Given the description of an element on the screen output the (x, y) to click on. 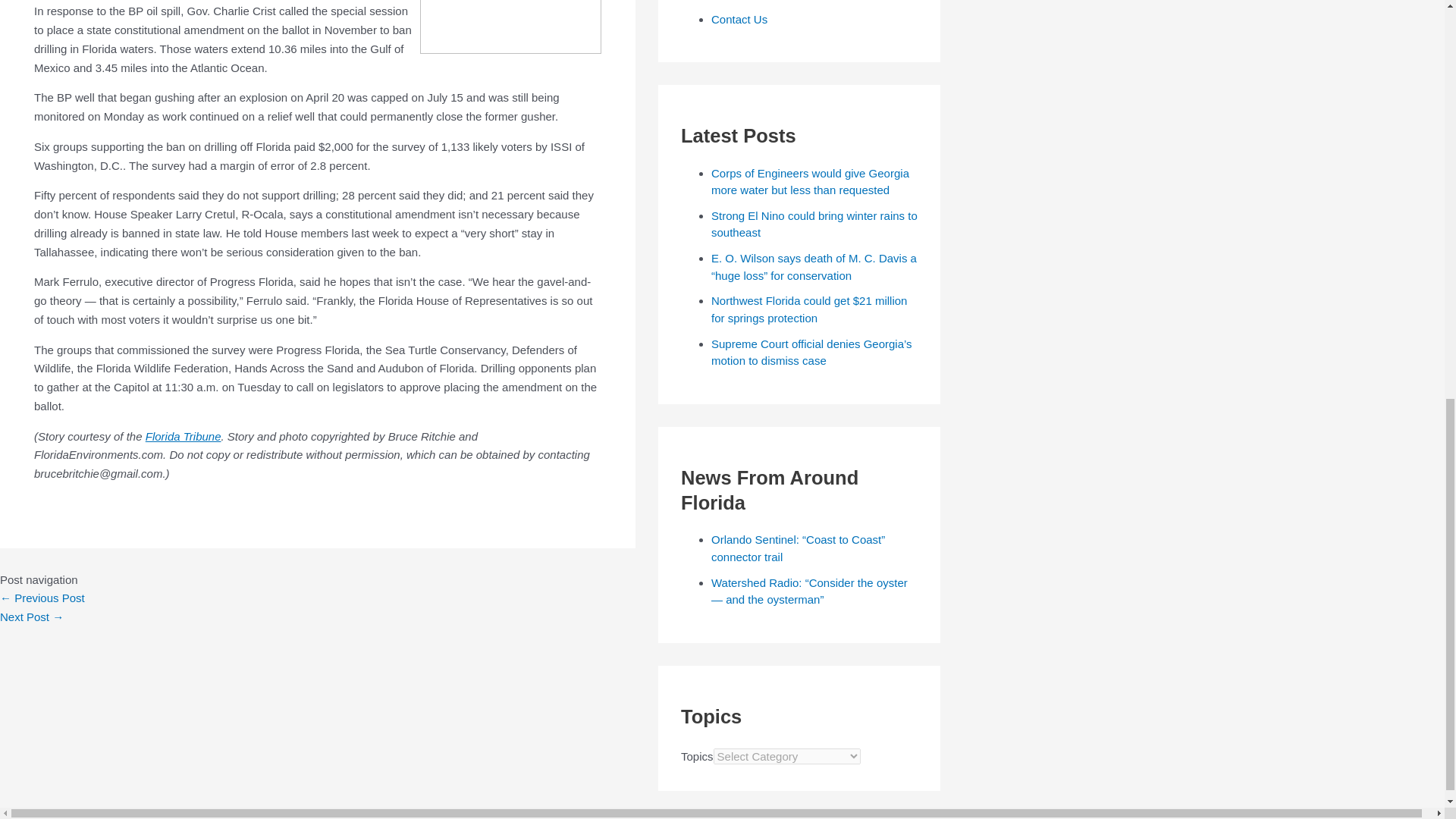
Florida Tribune (183, 436)
Florida officials urge caution as BP well tests continue (42, 597)
Strong El Nino could bring winter rains to southeast (814, 224)
Contact Us (739, 19)
